Given the description of an element on the screen output the (x, y) to click on. 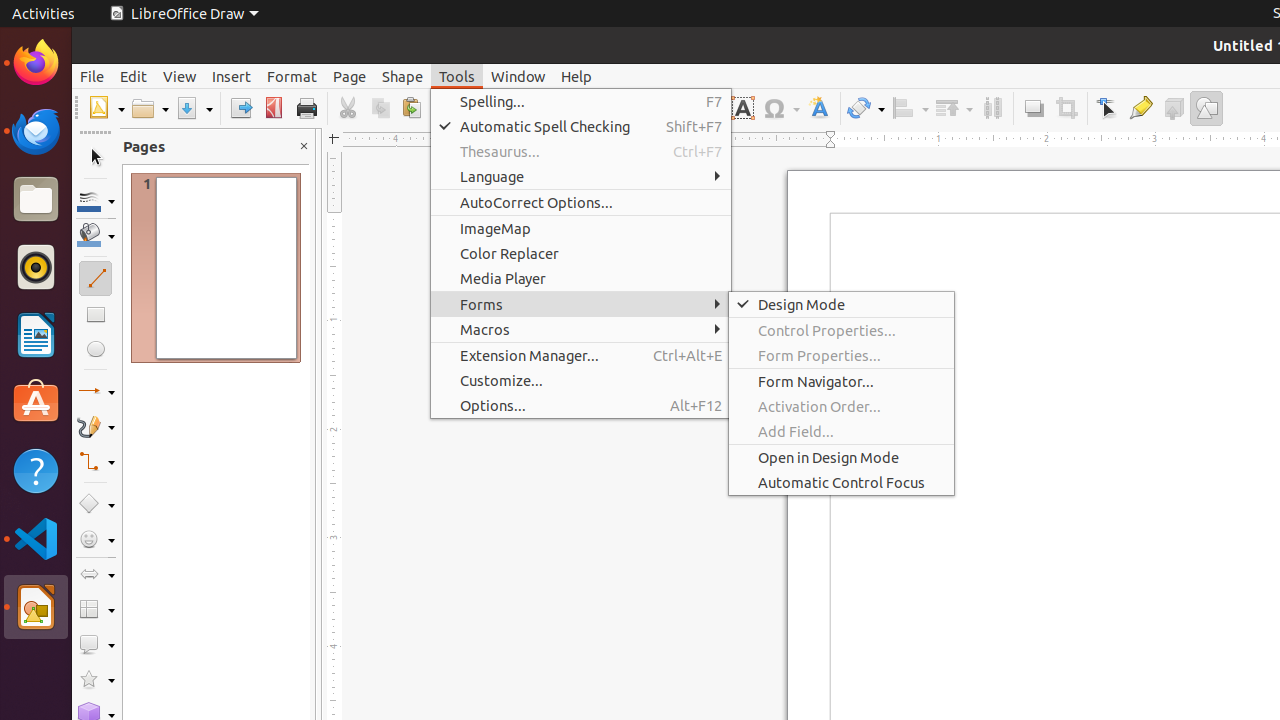
Files Element type: push-button (36, 199)
Symbol Element type: push-button (781, 108)
Extension Manager... Element type: menu-item (581, 355)
Ubuntu Software Element type: push-button (36, 402)
